Given the description of an element on the screen output the (x, y) to click on. 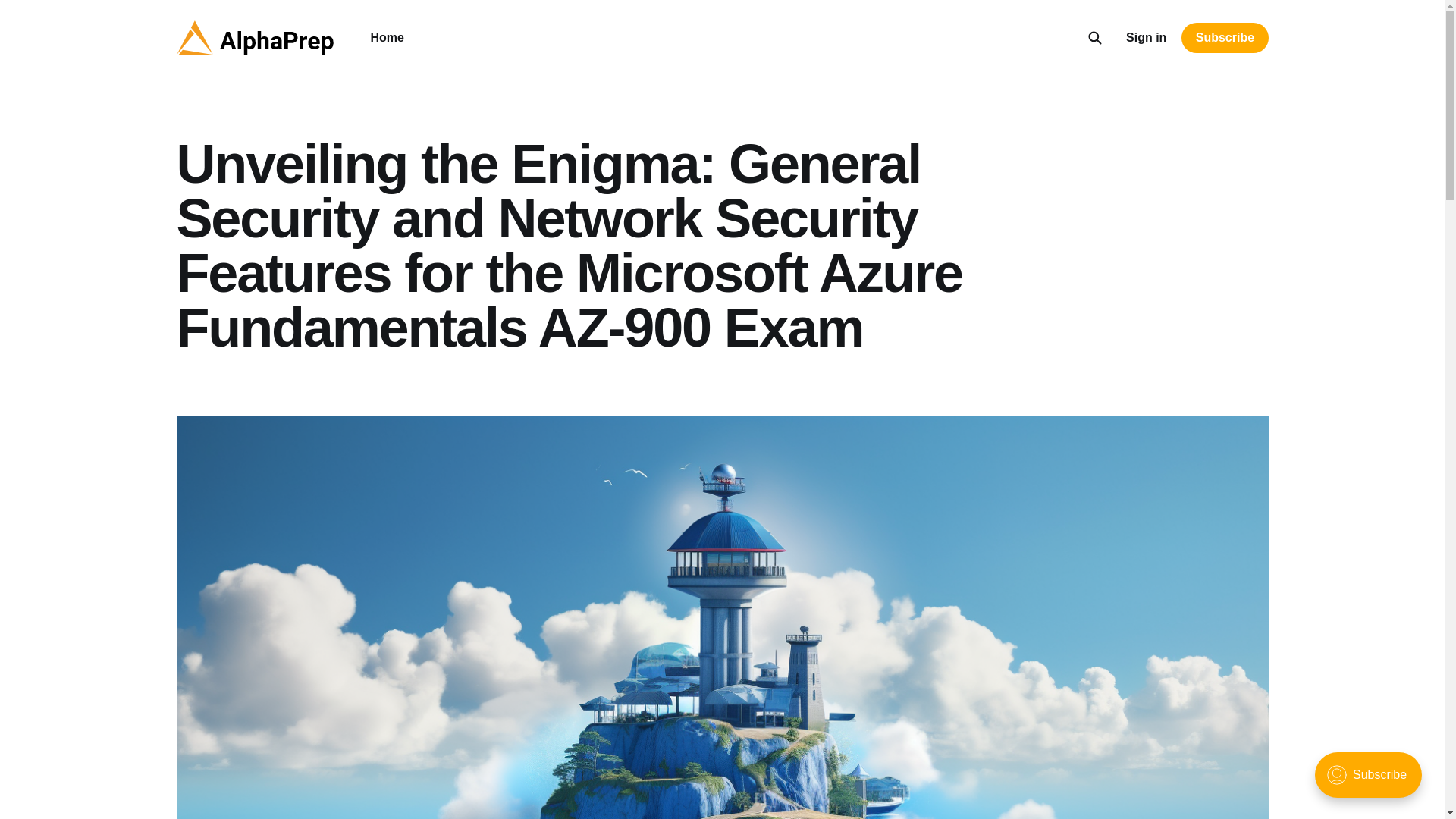
Subscribe (1224, 37)
Sign in (1145, 37)
Home (386, 37)
